Given the description of an element on the screen output the (x, y) to click on. 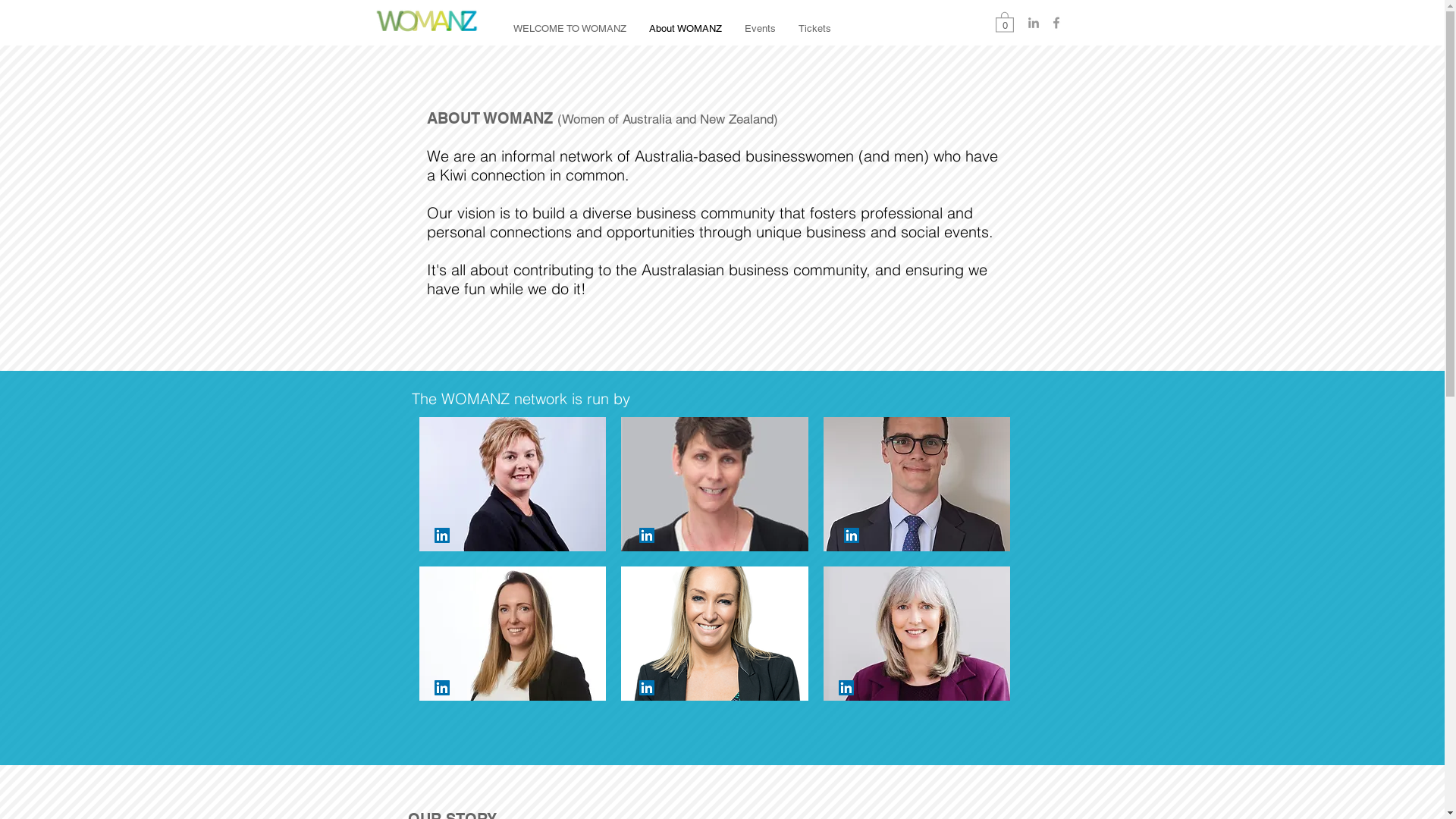
WELCOME TO WOMANZ Element type: text (569, 27)
Tickets Element type: text (814, 27)
Events Element type: text (759, 27)
About WOMANZ Element type: text (684, 27)
0 Element type: text (1003, 21)
